Given the description of an element on the screen output the (x, y) to click on. 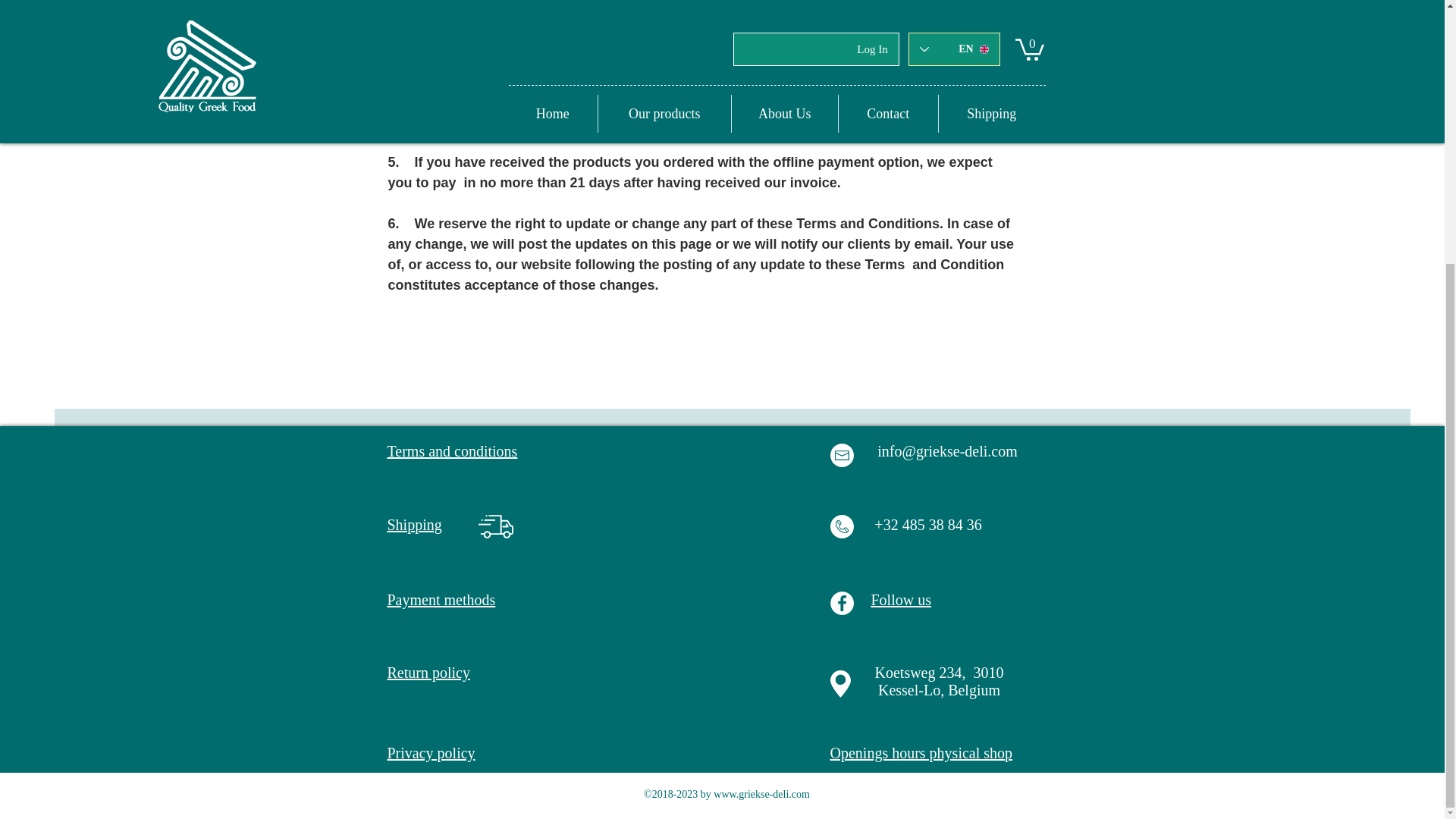
Follow us (900, 599)
Privacy policy (430, 752)
Payment methods (441, 599)
www.griekse-deli.com (761, 794)
Openings hours physical shop (920, 752)
Return policy (427, 672)
Shipping (414, 524)
Koetsweg 234,  3010 Kessel-Lo, Belgium (939, 681)
Terms and conditions (451, 451)
